Given the description of an element on the screen output the (x, y) to click on. 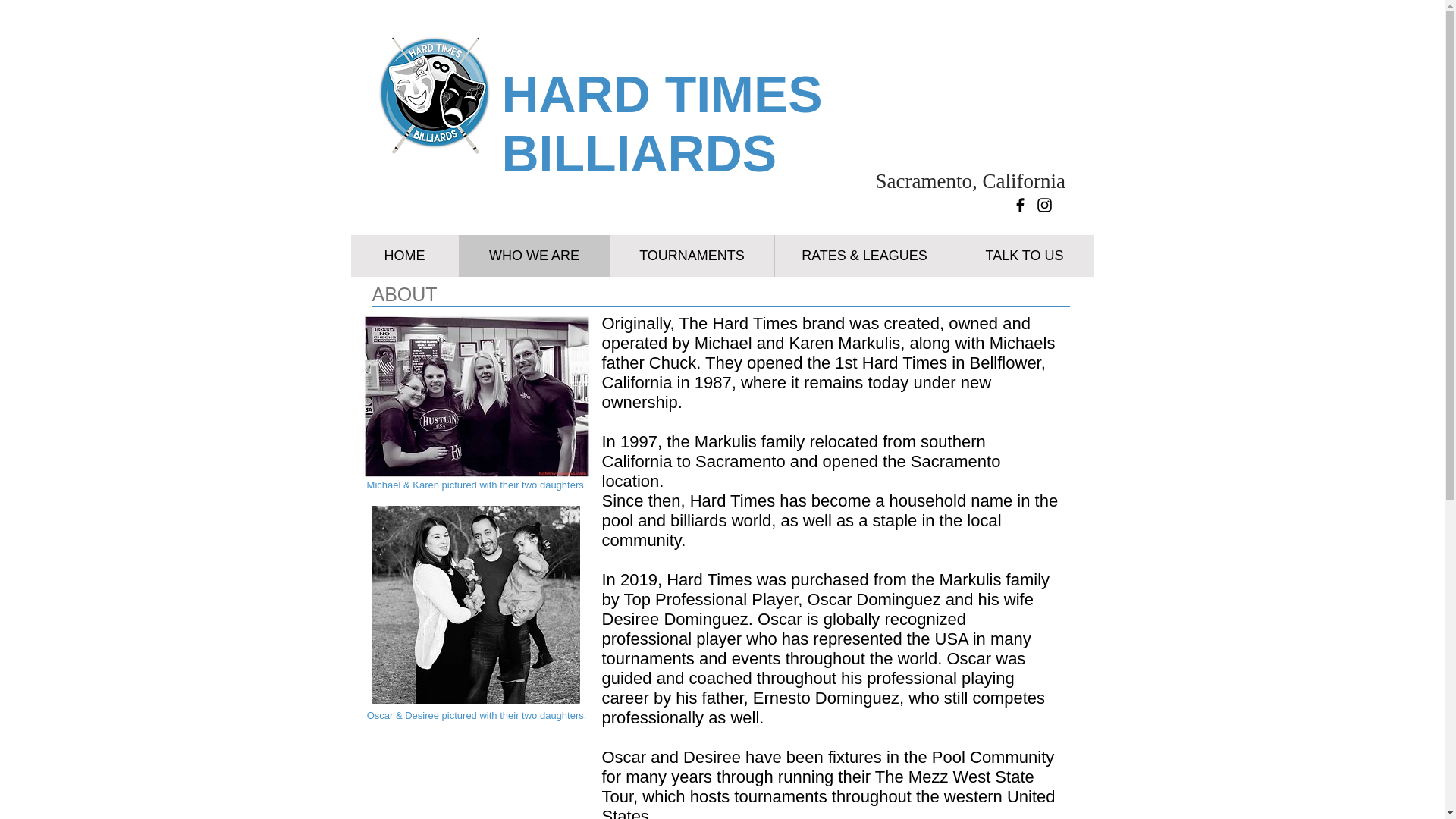
HARD TIMES BILLIARDS (662, 123)
WHO WE ARE (533, 255)
TALK TO US (1023, 255)
TOURNAMENTS (692, 255)
HOME (404, 255)
